Given the description of an element on the screen output the (x, y) to click on. 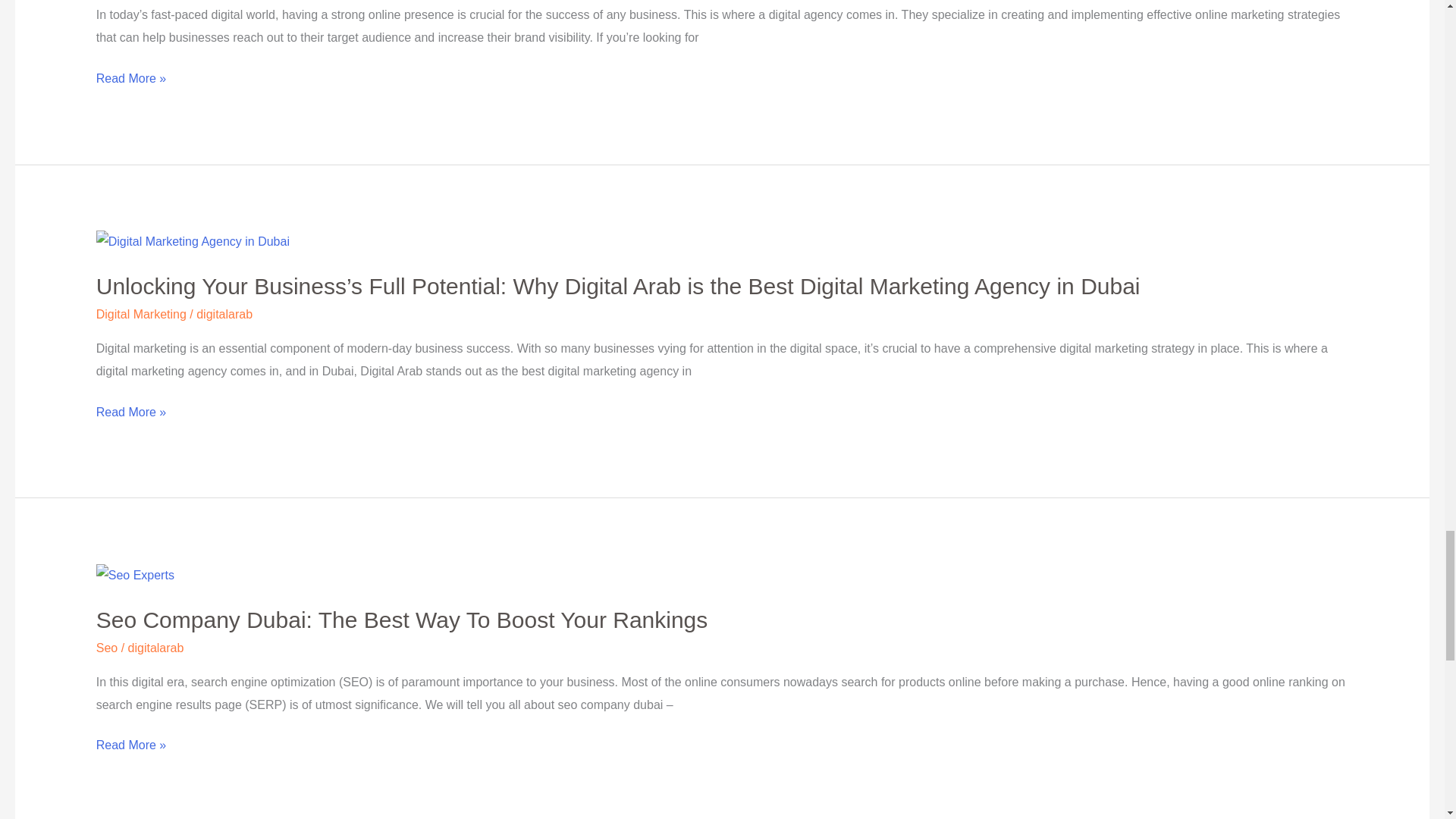
View all posts by digitalarab (223, 314)
Digital Marketing (141, 314)
View all posts by digitalarab (156, 647)
digitalarab (223, 314)
